Given the description of an element on the screen output the (x, y) to click on. 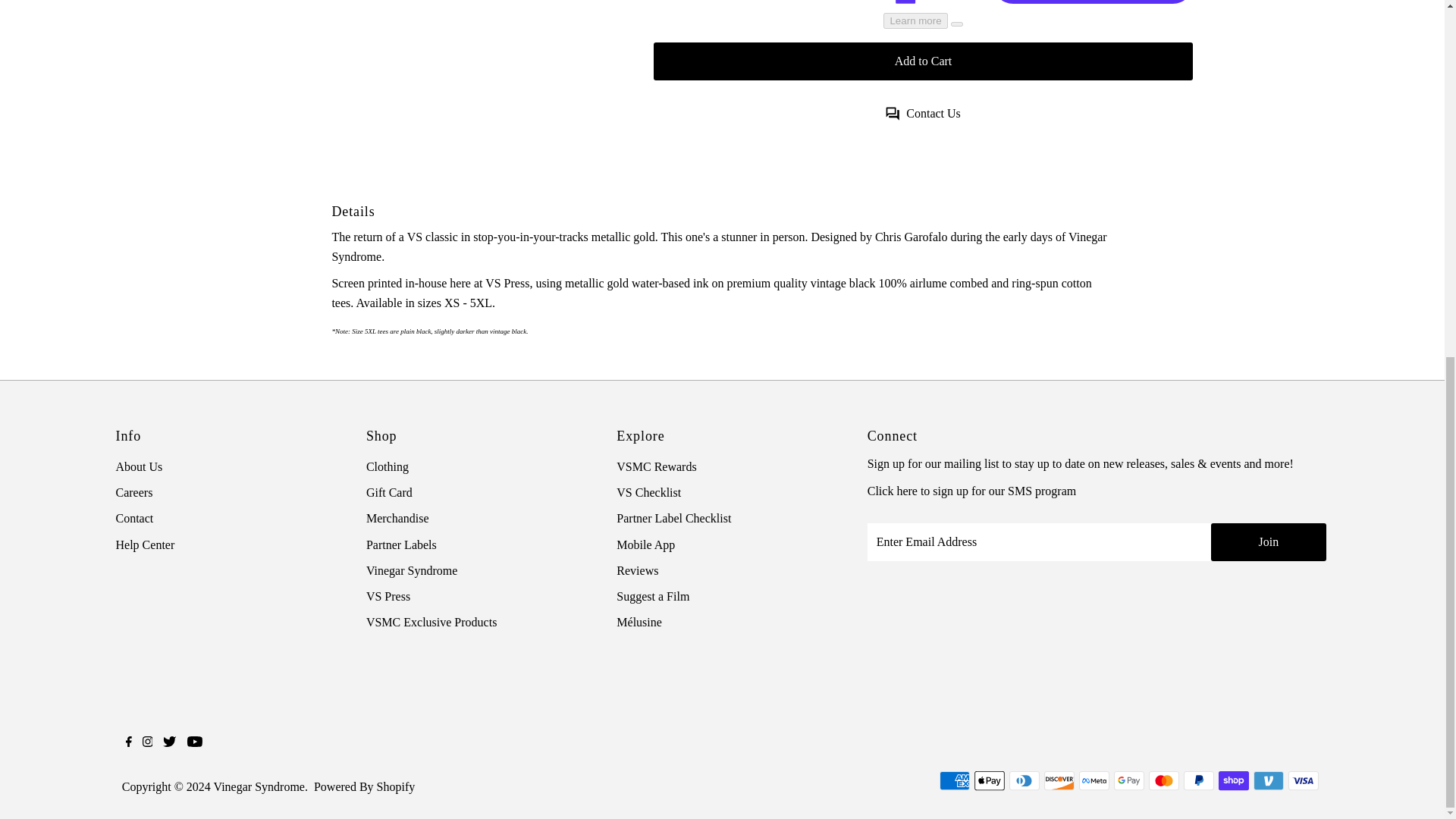
Add to Cart (922, 61)
Join (1267, 542)
